Given the description of an element on the screen output the (x, y) to click on. 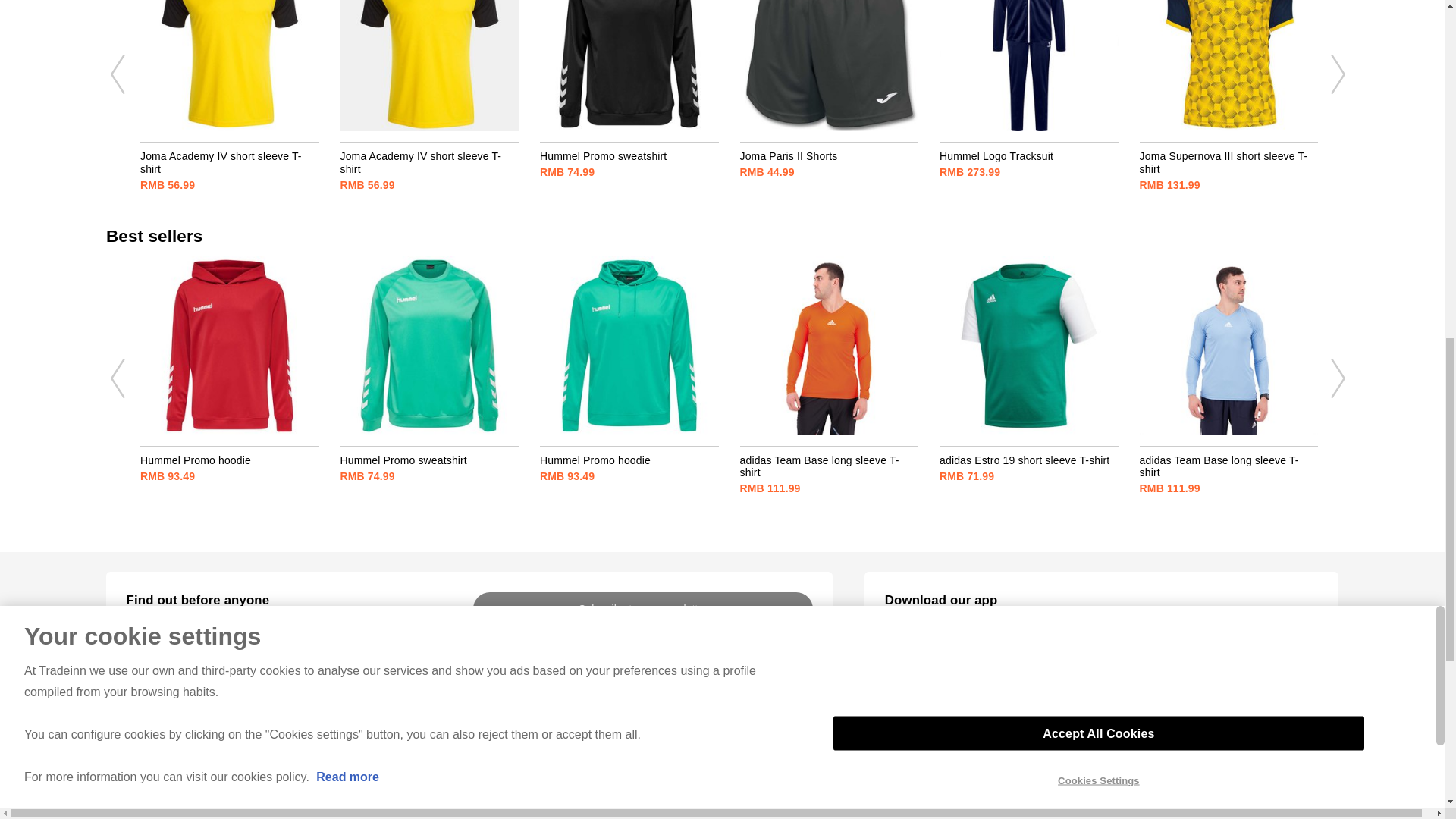
Subscribe to our newsletter (642, 609)
